Given the description of an element on the screen output the (x, y) to click on. 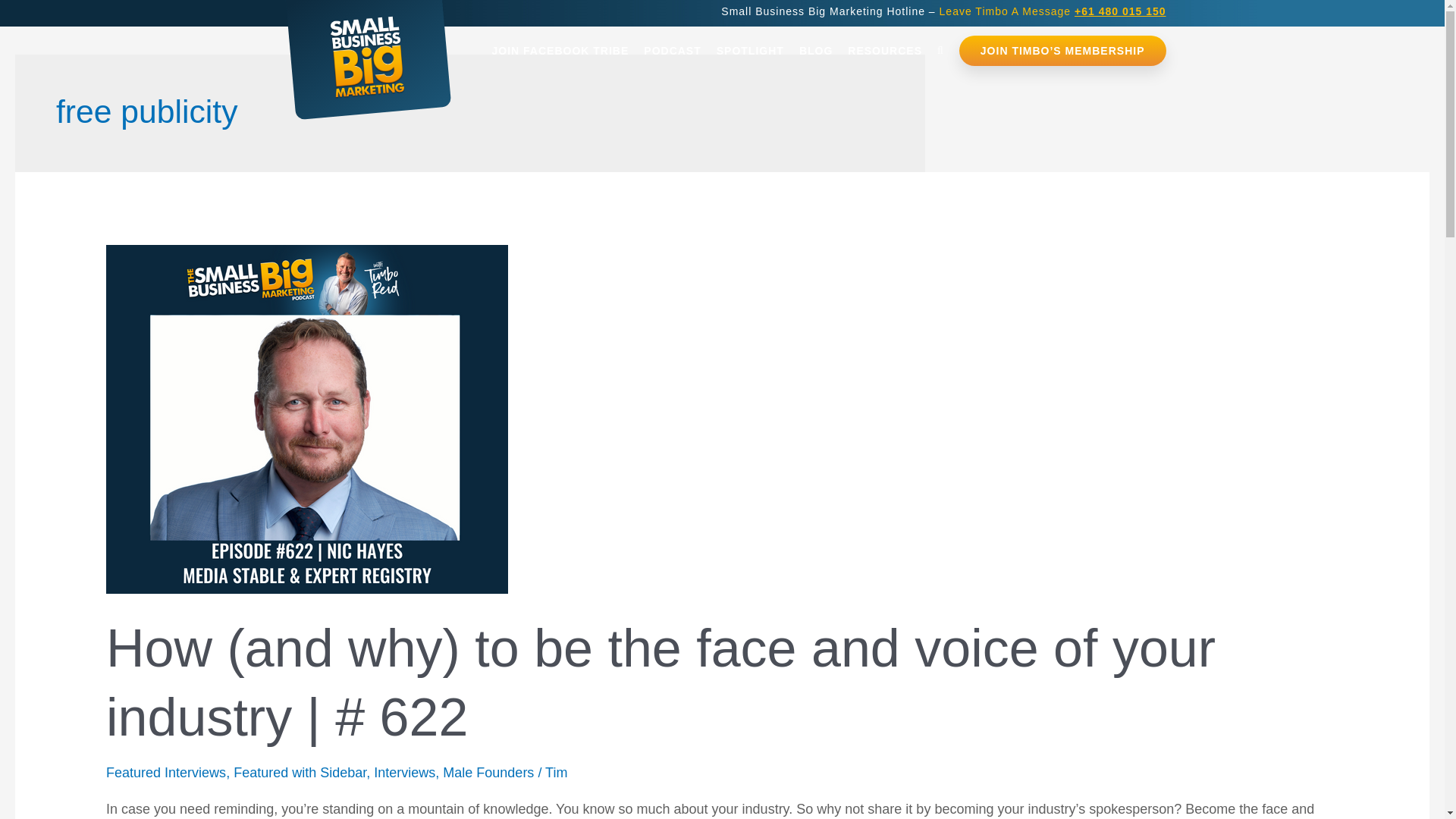
PODCAST (671, 51)
BLOG (816, 51)
SPOTLIGHT (750, 51)
JOIN FACEBOOK TRIBE (559, 51)
View all posts by Tim (555, 772)
RESOURCES (885, 51)
